Given the description of an element on the screen output the (x, y) to click on. 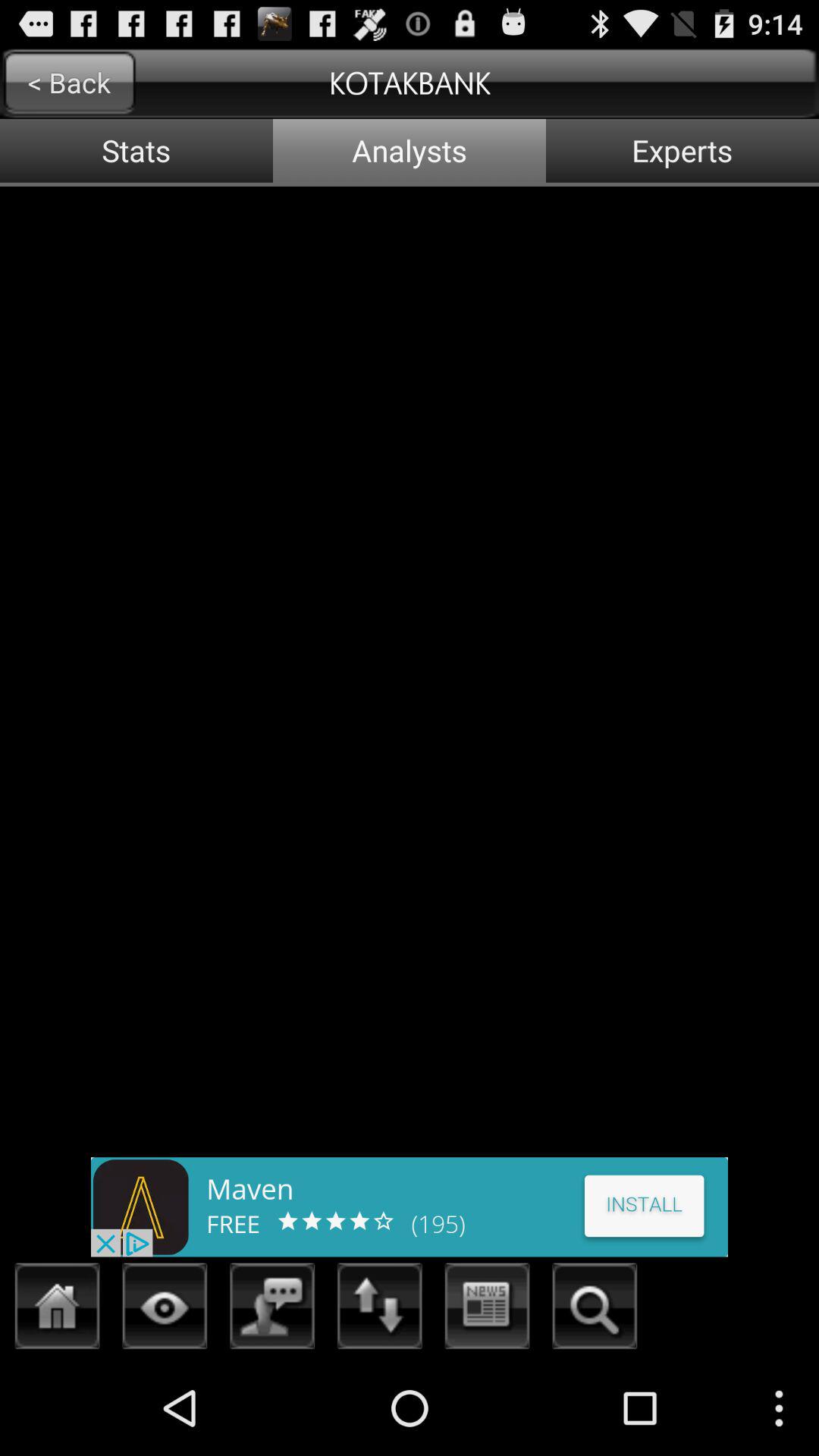
select the news symbol (487, 1310)
